Given the description of an element on the screen output the (x, y) to click on. 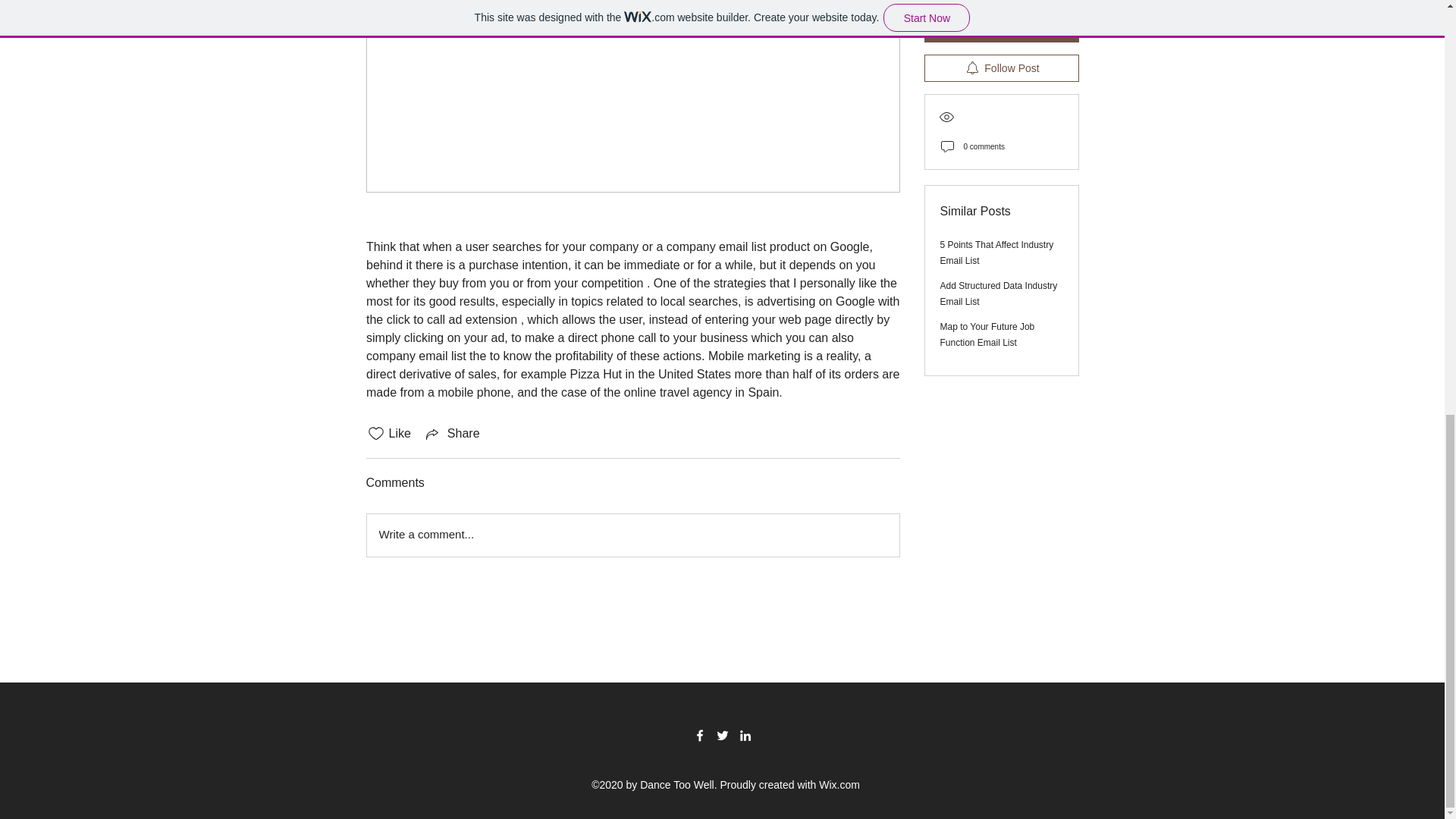
Write a comment... (632, 535)
Share (451, 434)
